Given the description of an element on the screen output the (x, y) to click on. 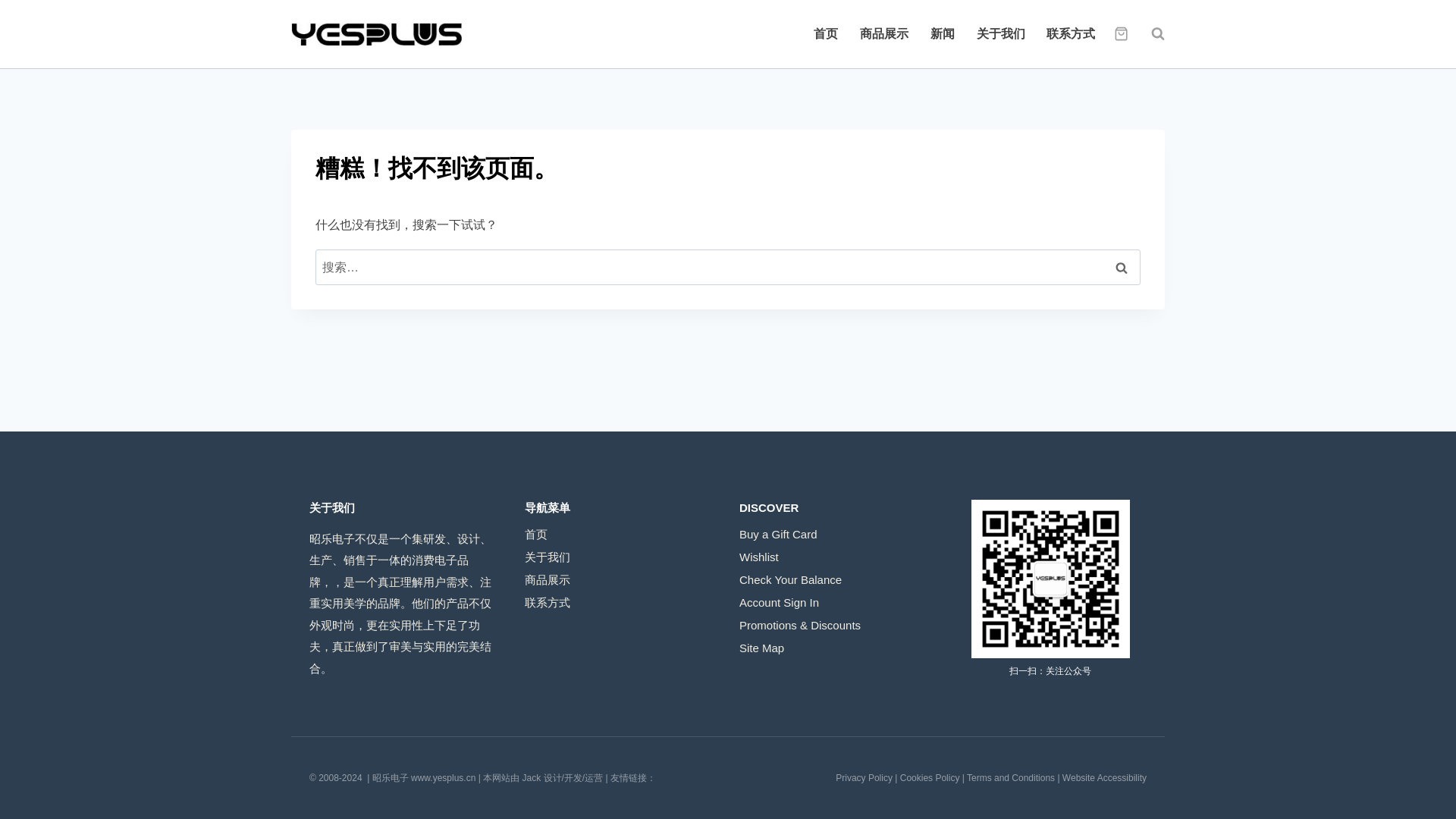
Buy a Gift Card (835, 533)
Wishlist (835, 556)
Site Map (835, 647)
Check Your Balance (835, 579)
Account Sign In (835, 601)
